Given the description of an element on the screen output the (x, y) to click on. 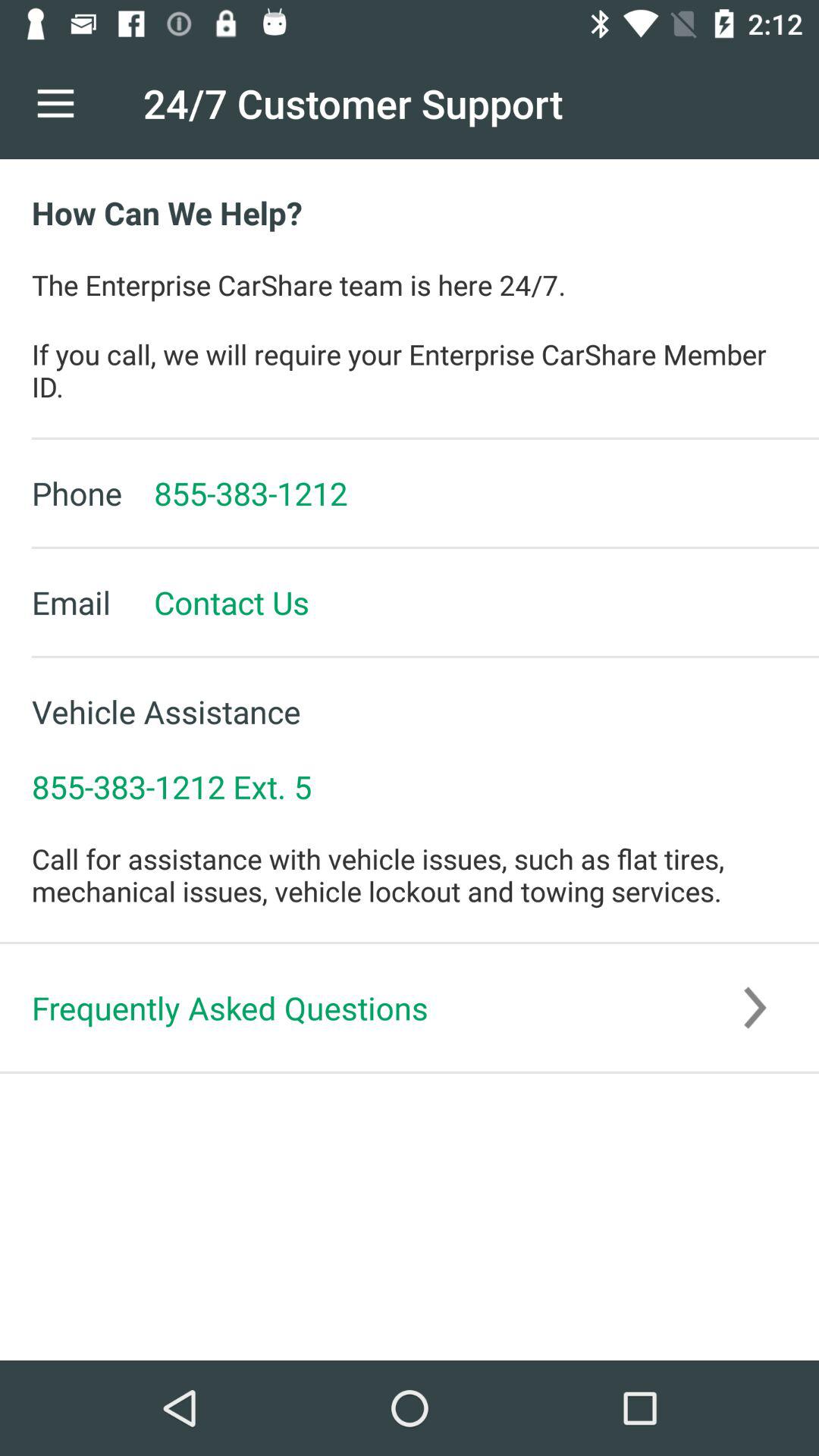
turn on icon next to email icon (215, 601)
